Given the description of an element on the screen output the (x, y) to click on. 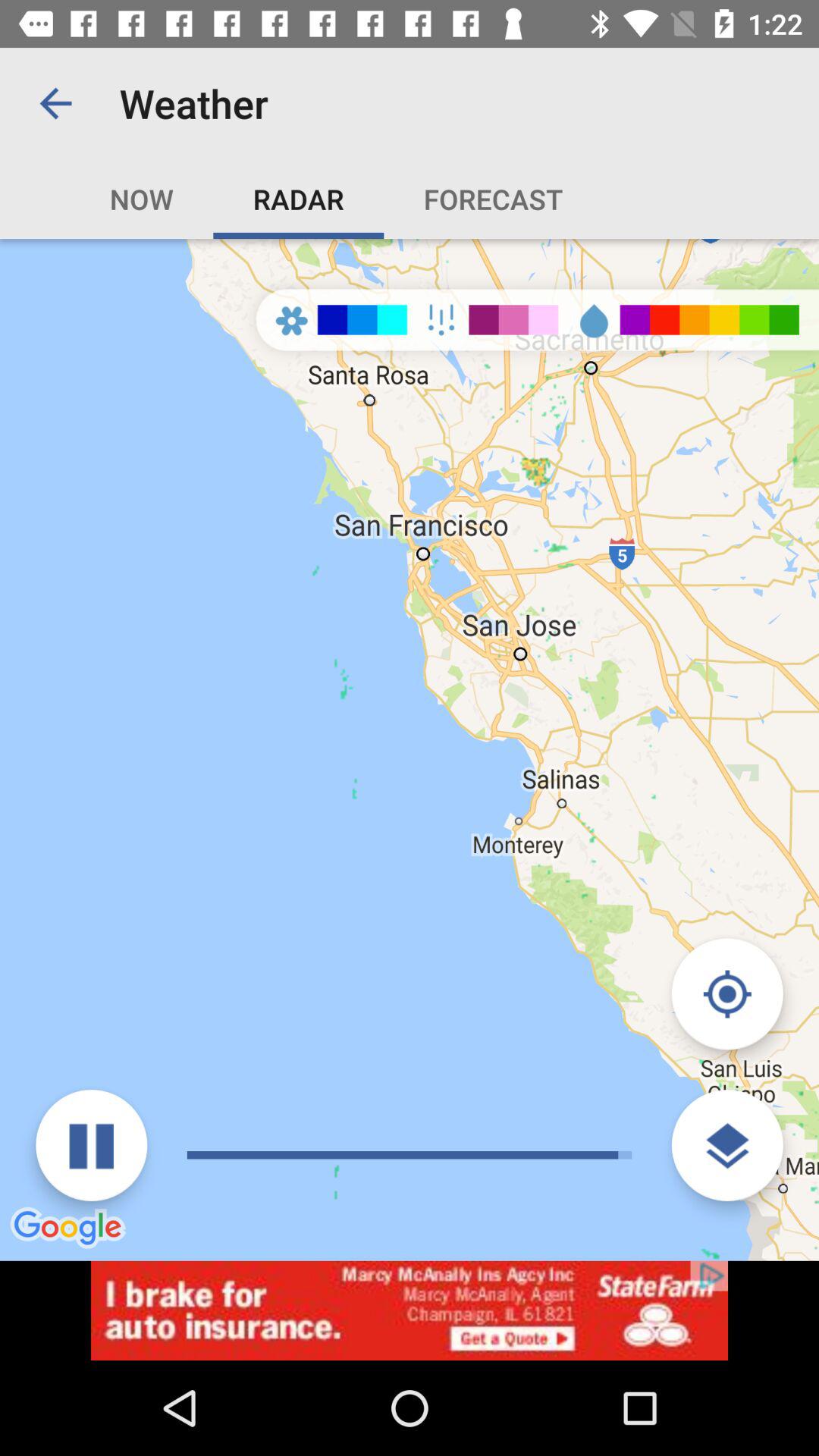
show current location (727, 993)
